Given the description of an element on the screen output the (x, y) to click on. 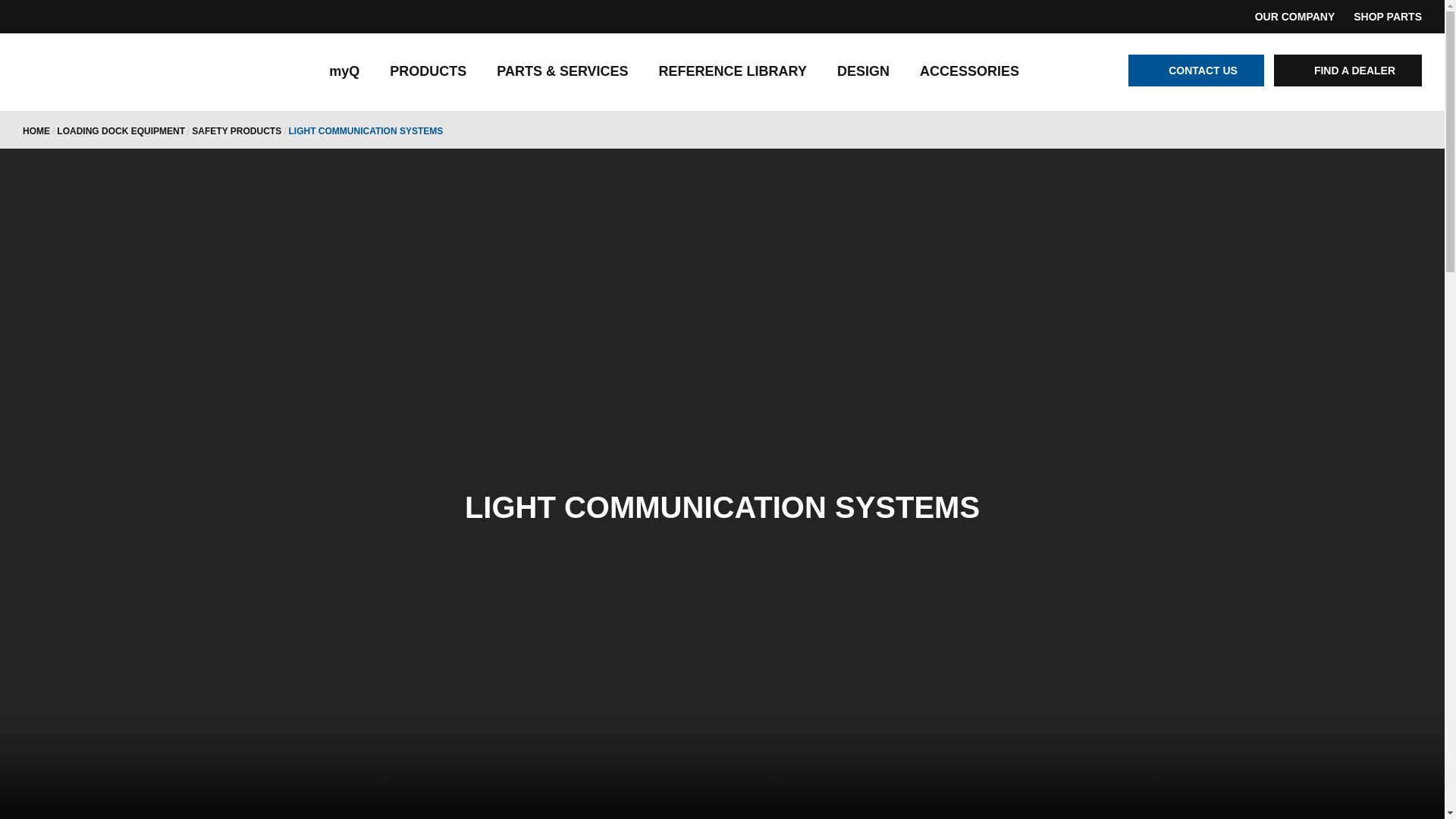
McGuire - Loading Dock Equipment (121, 72)
myQ (344, 71)
OUR COMPANY (1295, 15)
SHOP PARTS (1388, 15)
PRODUCTS (427, 71)
